Given the description of an element on the screen output the (x, y) to click on. 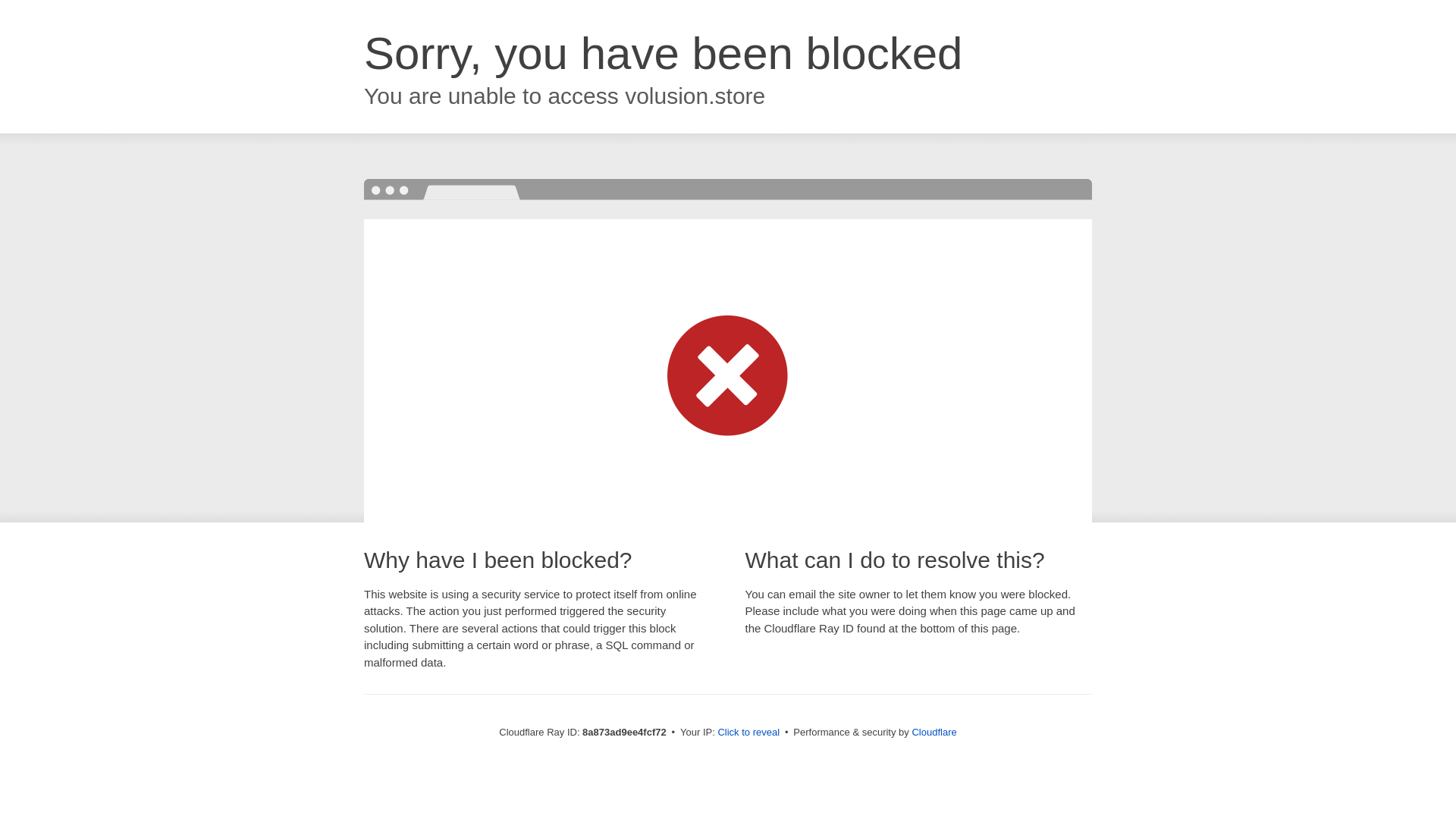
Cloudflare (933, 731)
Click to reveal (747, 732)
